Given the description of an element on the screen output the (x, y) to click on. 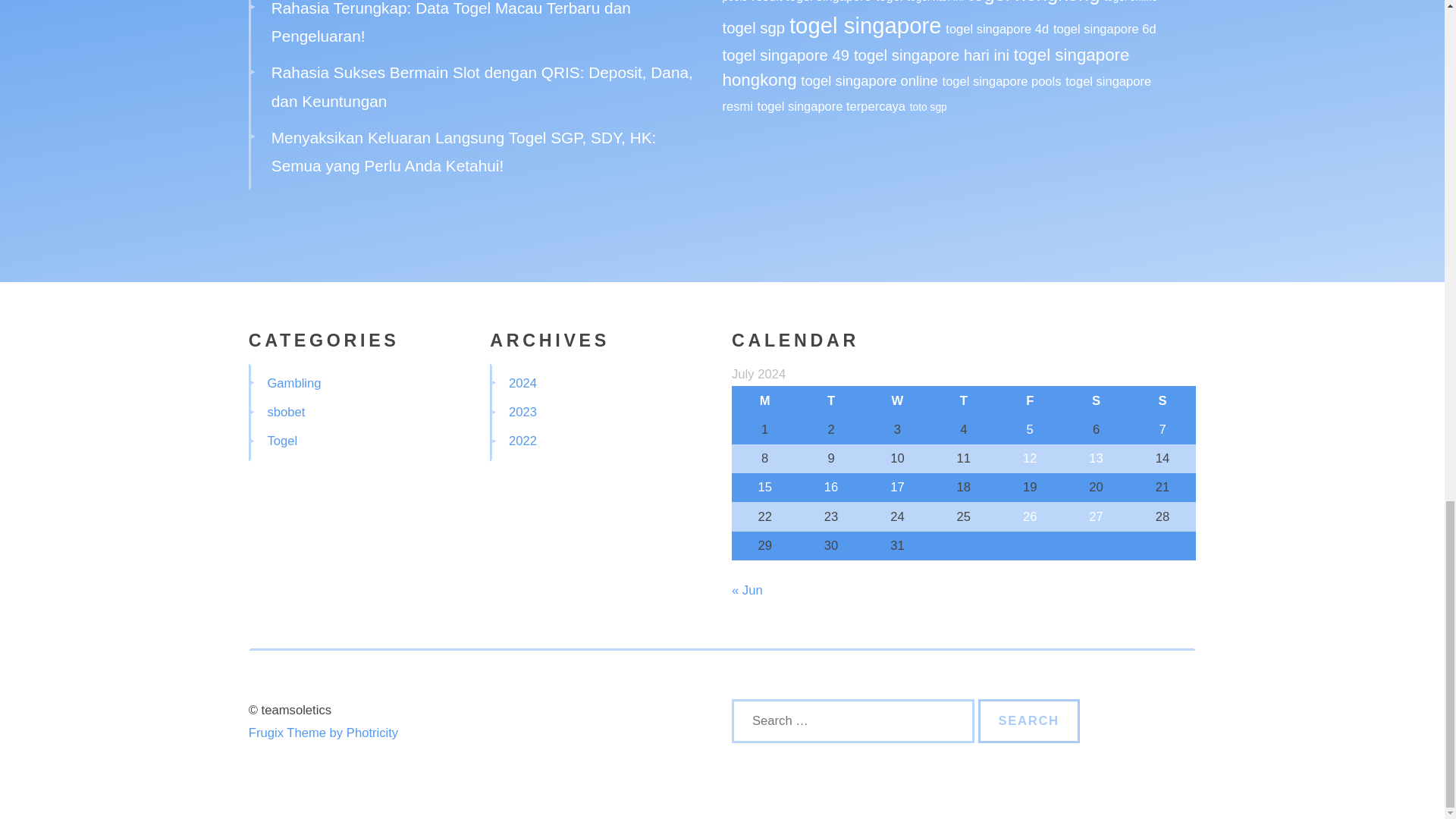
togel hongkong (1033, 2)
togel hari ini (934, 1)
result togel singapore (810, 1)
togel (889, 1)
Search (1029, 720)
Rahasia Terungkap: Data Togel Macau Terbaru dan Pengeluaran! (450, 22)
Friday (1029, 399)
Search (1029, 720)
Saturday (1095, 399)
Wednesday (897, 399)
Sunday (1162, 399)
Thursday (962, 399)
Tuesday (830, 399)
